Given the description of an element on the screen output the (x, y) to click on. 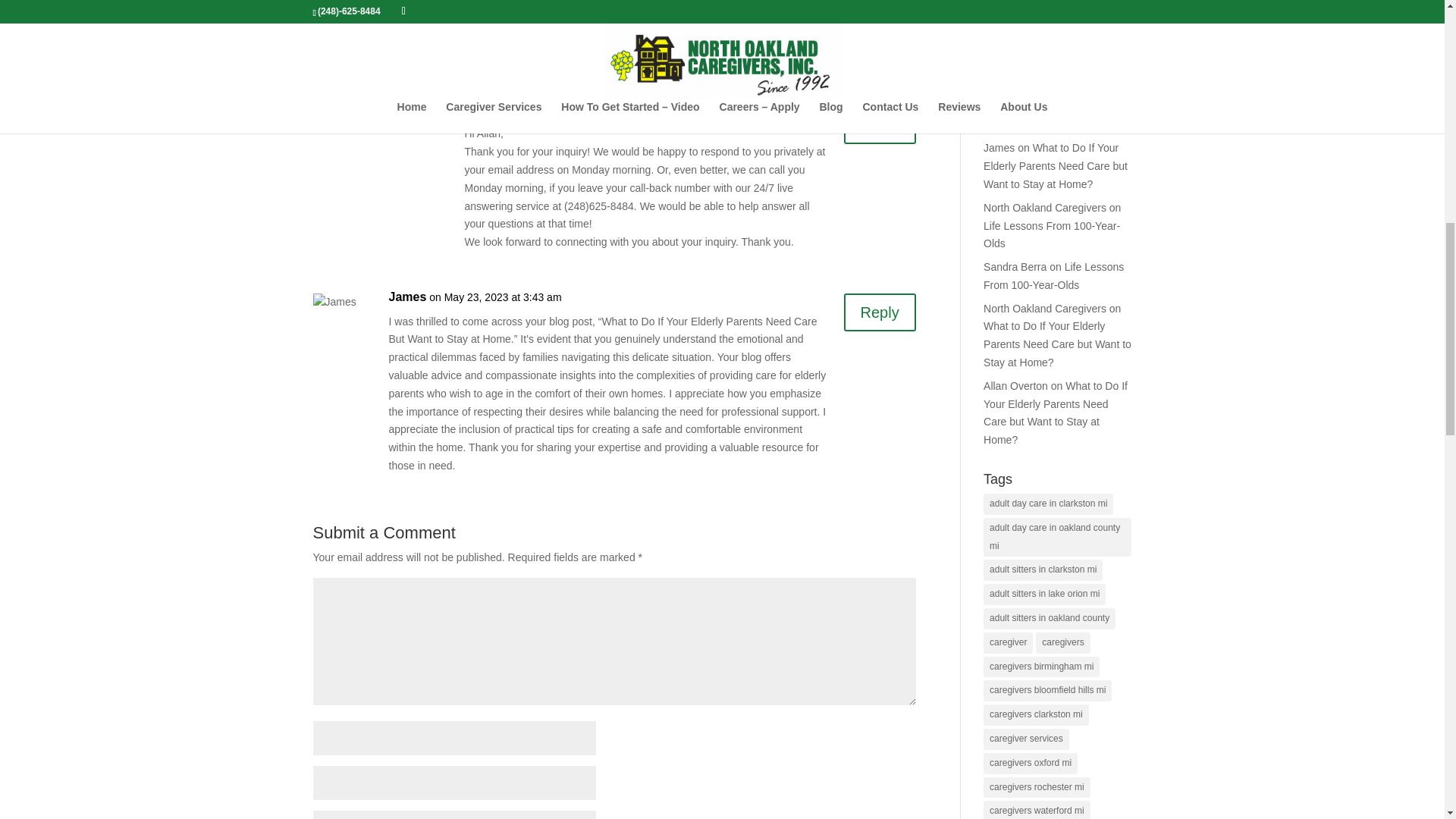
Reply (879, 125)
Reply (879, 13)
Reply (879, 312)
North Oakland Caregivers (538, 109)
James (407, 297)
